Given the description of an element on the screen output the (x, y) to click on. 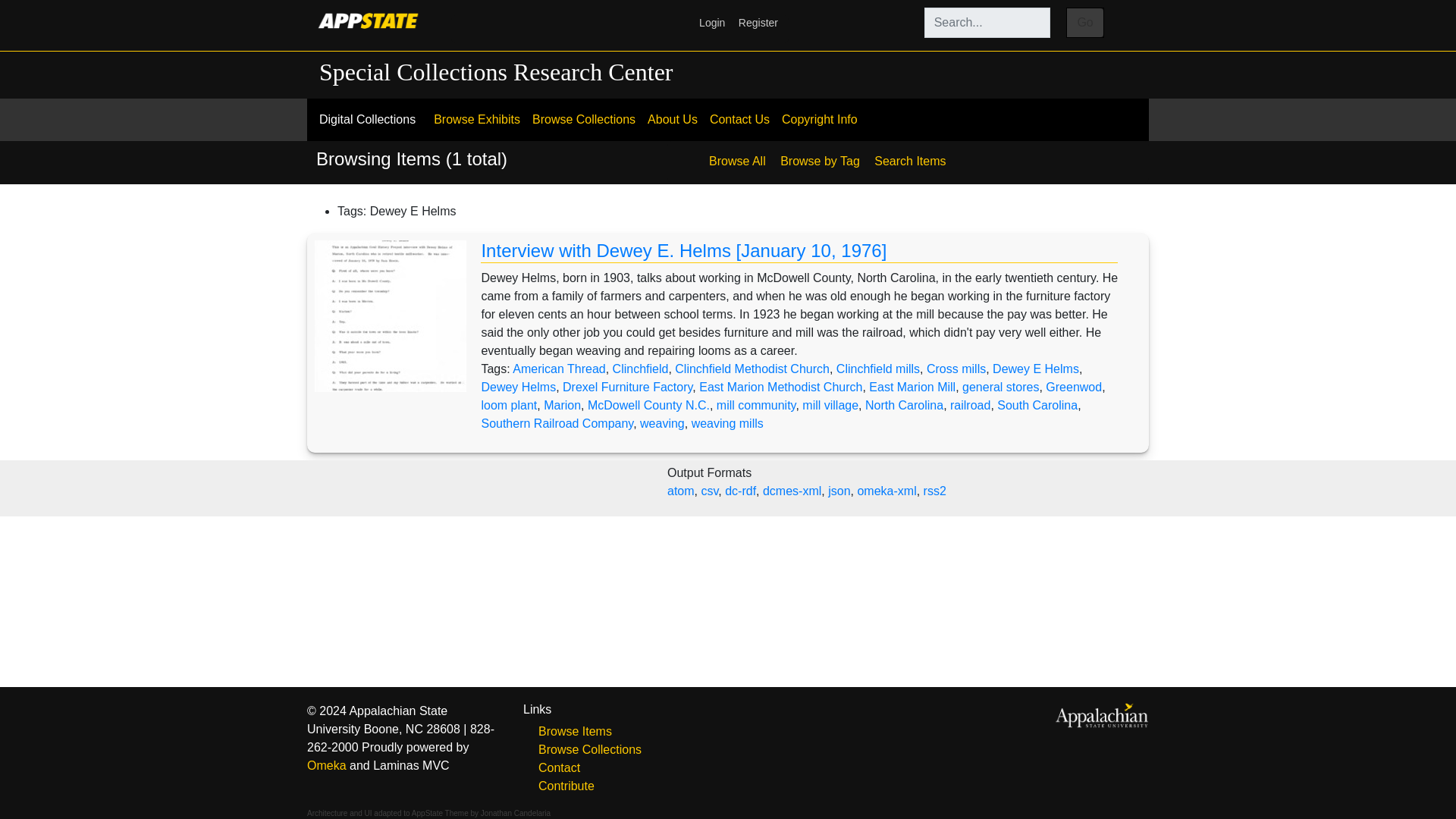
Clinchfield Methodist Church (752, 368)
railroad (970, 404)
Marion (561, 404)
Copyright Information (819, 119)
McDowell County N.C. (649, 404)
Search Items (909, 155)
Copyright Info (819, 119)
general stores (1000, 386)
Digital Collections (366, 119)
Browse Exhibits (476, 119)
mill community (756, 404)
Contact Us (739, 119)
Browse Collections (583, 119)
Special Collections Research Center (495, 71)
South Carolina (1037, 404)
